Given the description of an element on the screen output the (x, y) to click on. 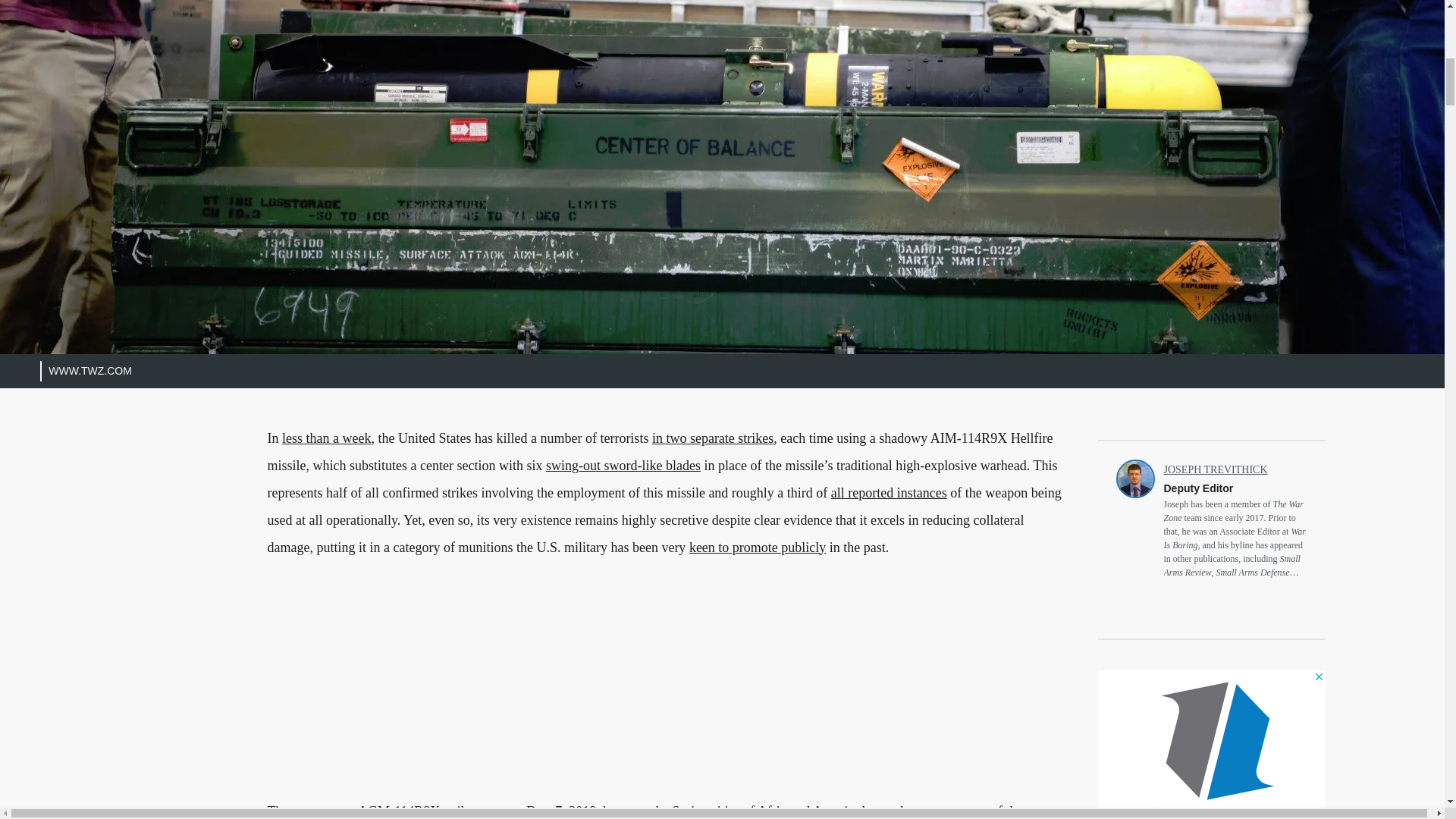
3rd party ad content (668, 691)
3rd party ad content (1210, 744)
